Given the description of an element on the screen output the (x, y) to click on. 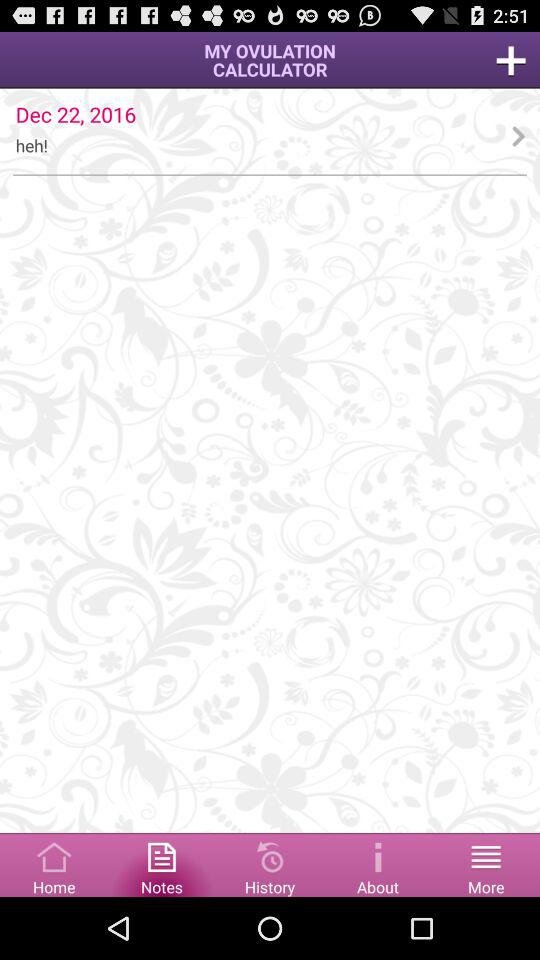
menu (486, 864)
